Given the description of an element on the screen output the (x, y) to click on. 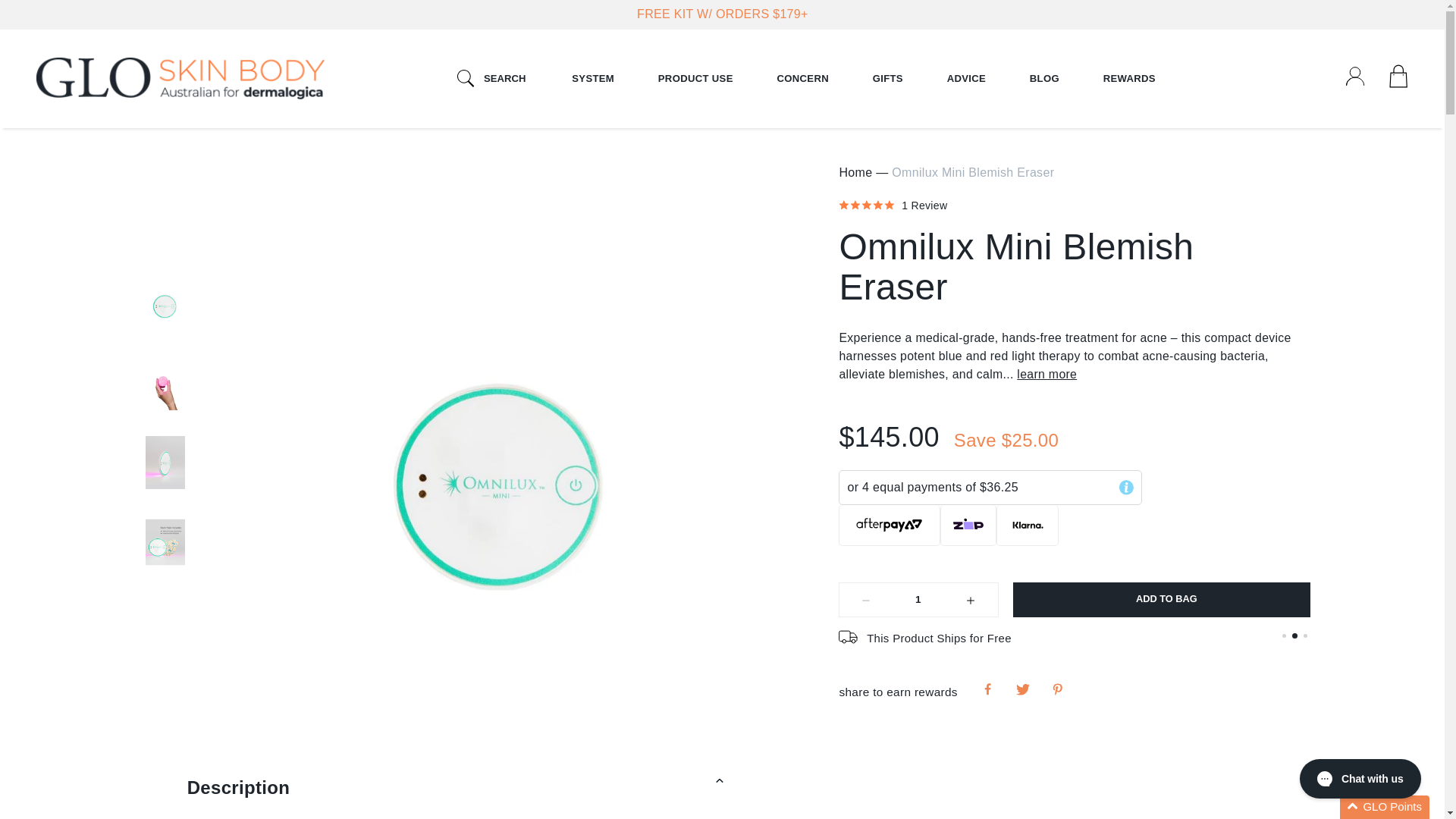
Home (180, 78)
SEARCH (491, 78)
PRODUCT USE (695, 78)
learn more (1046, 373)
1 (917, 599)
